Given the description of an element on the screen output the (x, y) to click on. 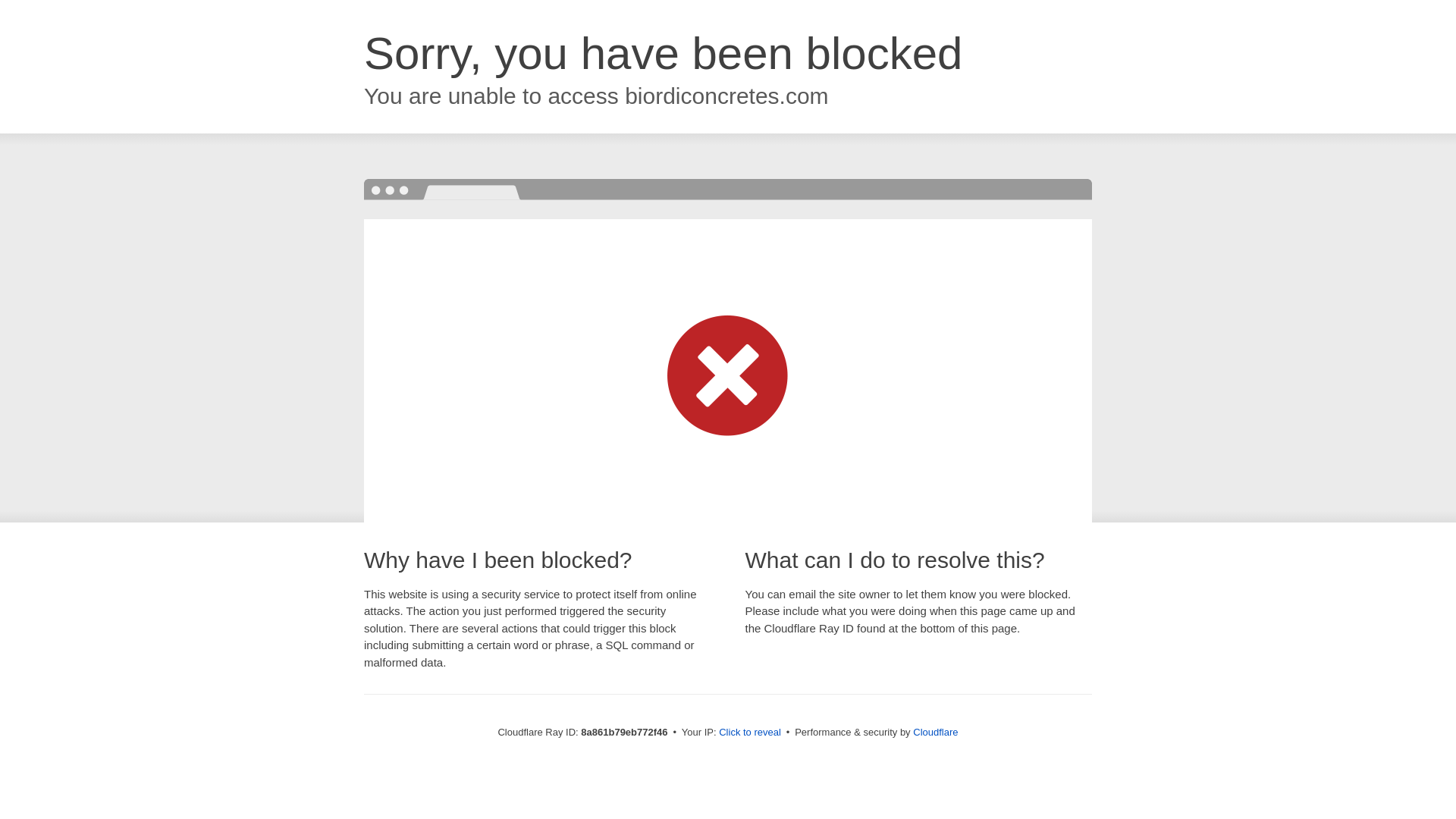
Click to reveal (749, 732)
Cloudflare (935, 731)
